Given the description of an element on the screen output the (x, y) to click on. 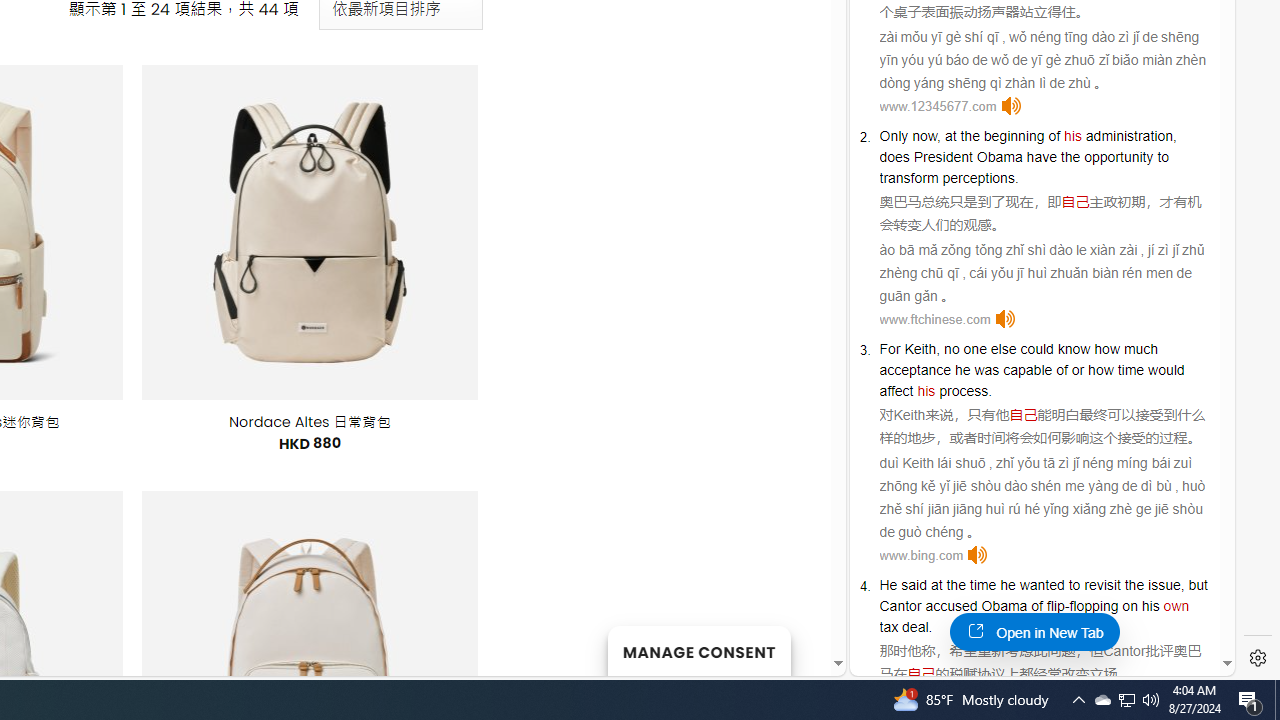
at (936, 584)
www.12345677.com (938, 106)
wanted (1041, 584)
to (1163, 156)
President (942, 156)
deal (915, 627)
